Given the description of an element on the screen output the (x, y) to click on. 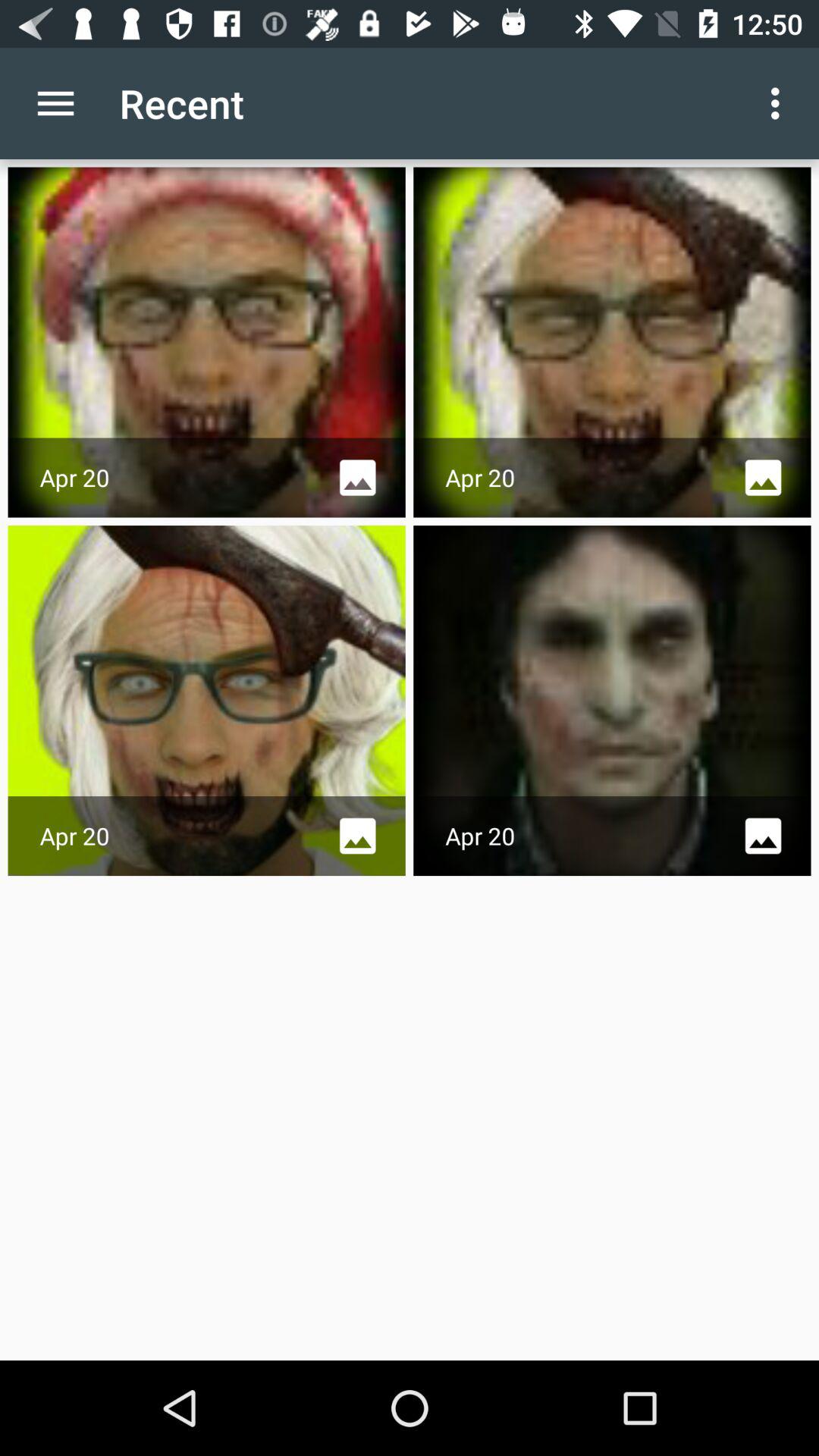
select the second image icon in the first row (763, 478)
click on the first image which is located at left corner (206, 342)
click on the first image which is located at right corner (612, 342)
click on the image which is placed bottom left corner (206, 700)
click on the button at the top right corner of the page (779, 103)
click on the fourth image which is located at bottom right corner (612, 700)
select the image from the top left (206, 342)
select the image bottom right (612, 700)
